Given the description of an element on the screen output the (x, y) to click on. 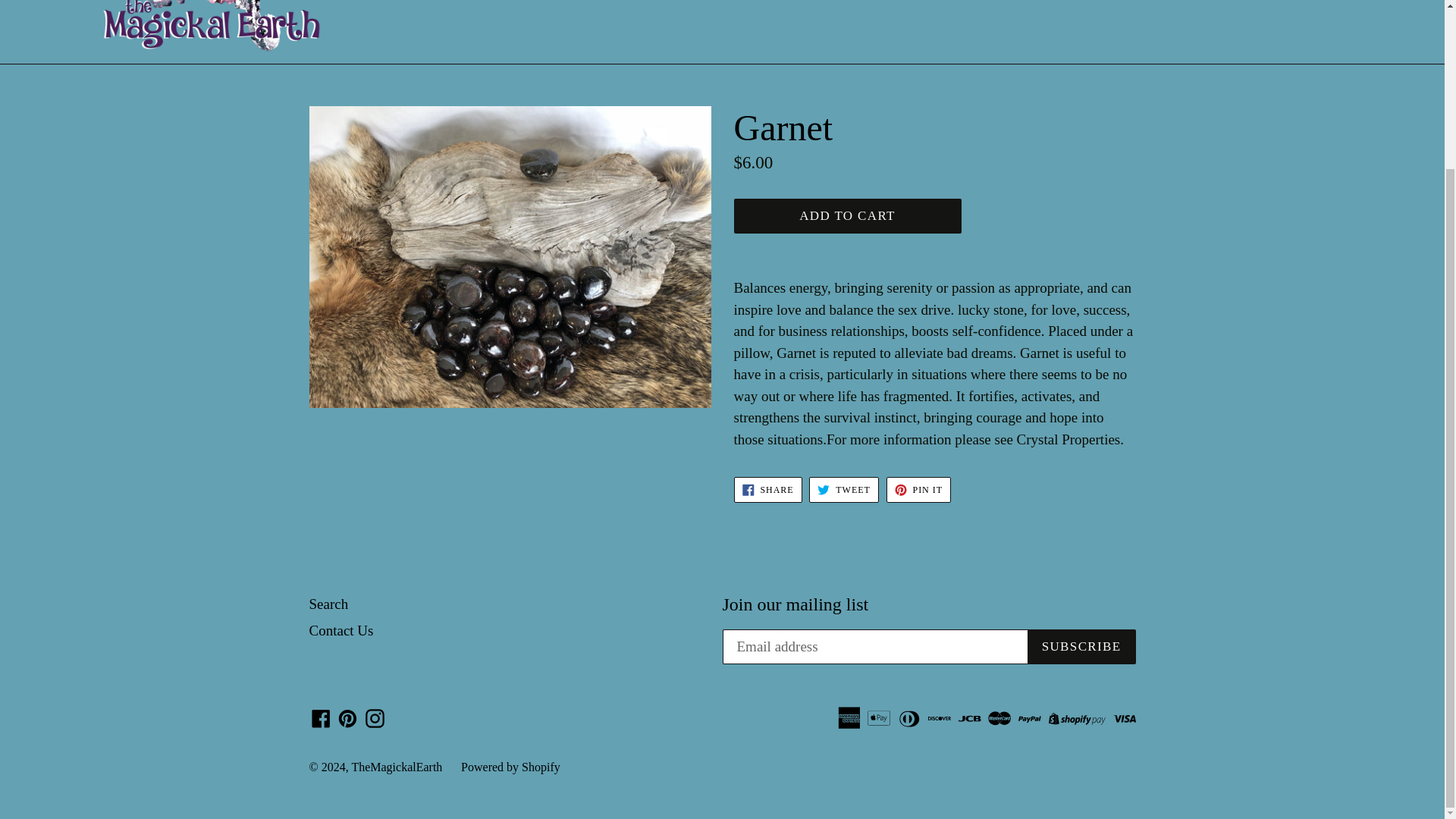
Tweet on Twitter (843, 489)
Share on Facebook (767, 489)
TheMagickalEarth on Facebook (767, 489)
Pin on Pinterest (320, 717)
Search (918, 489)
ADD TO CART (328, 603)
TheMagickalEarth on Pinterest (843, 489)
